Given the description of an element on the screen output the (x, y) to click on. 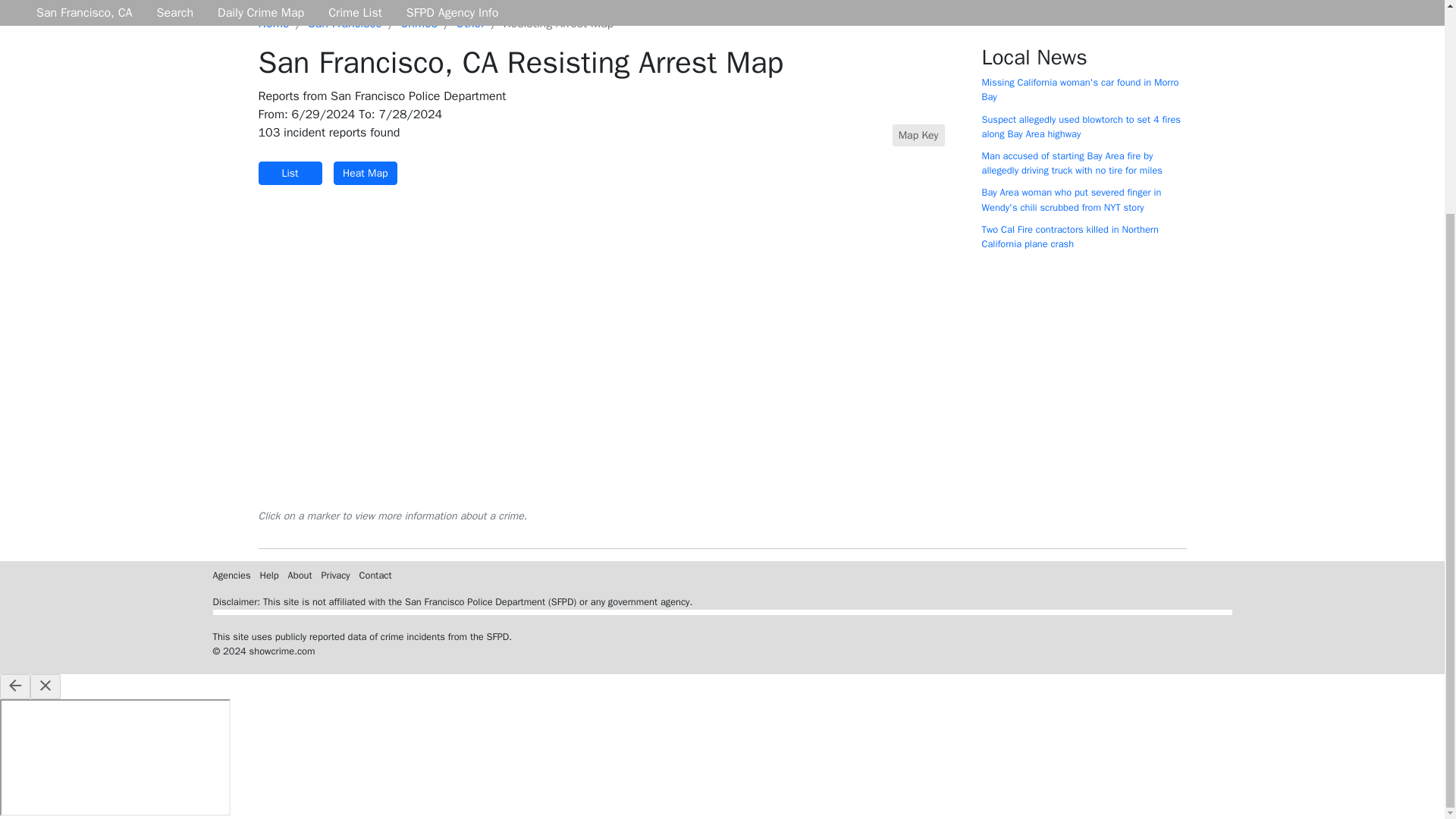
List (289, 173)
Home (272, 23)
Agencies (231, 575)
San Francisco (344, 23)
About (300, 575)
Heat Map (365, 173)
Other (469, 23)
Contact (375, 575)
San Francisco (344, 23)
Privacy (334, 575)
